Given the description of an element on the screen output the (x, y) to click on. 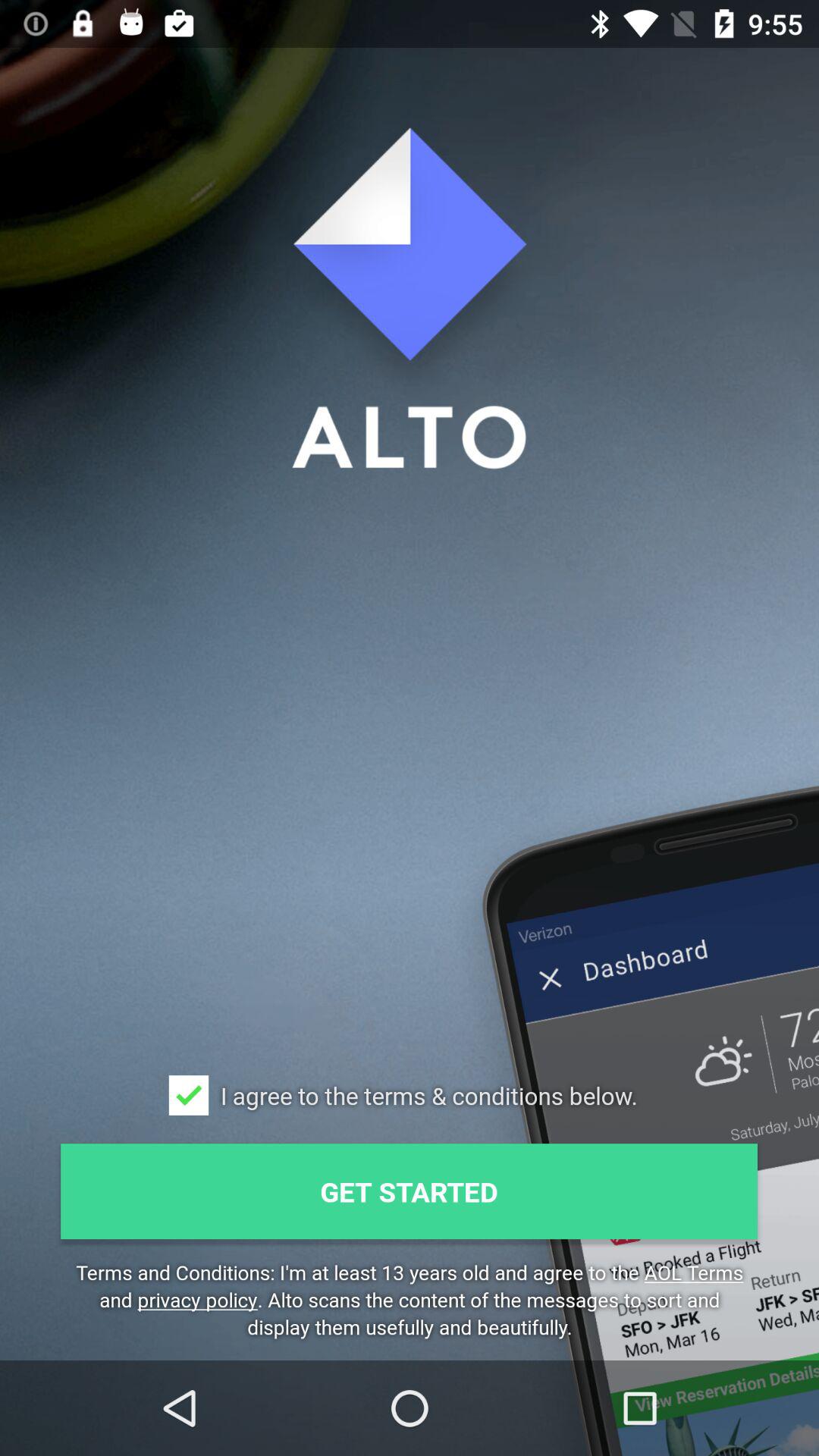
press the item above the get started icon (188, 1095)
